Given the description of an element on the screen output the (x, y) to click on. 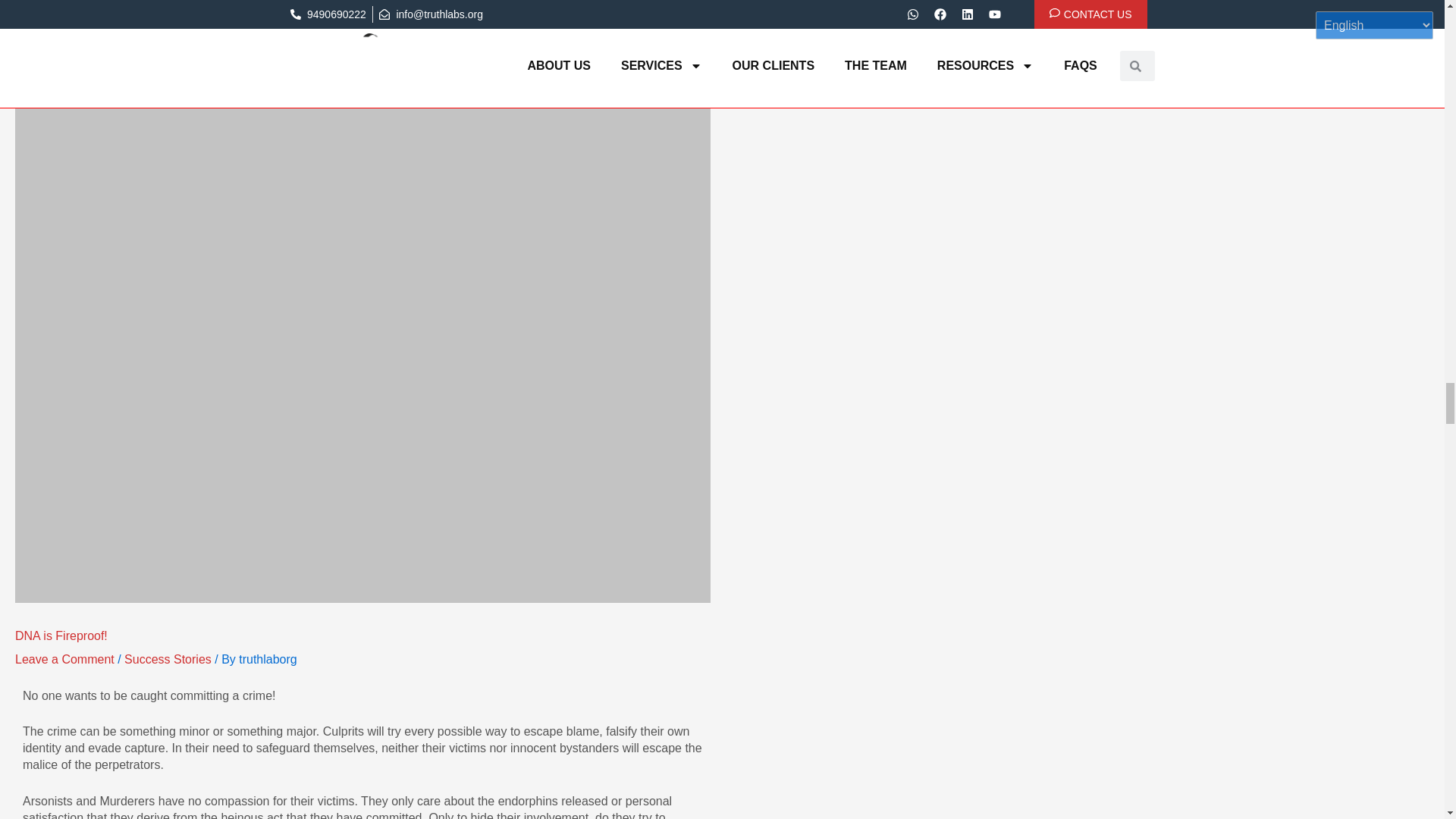
View all posts by truthlaborg (267, 658)
